Given the description of an element on the screen output the (x, y) to click on. 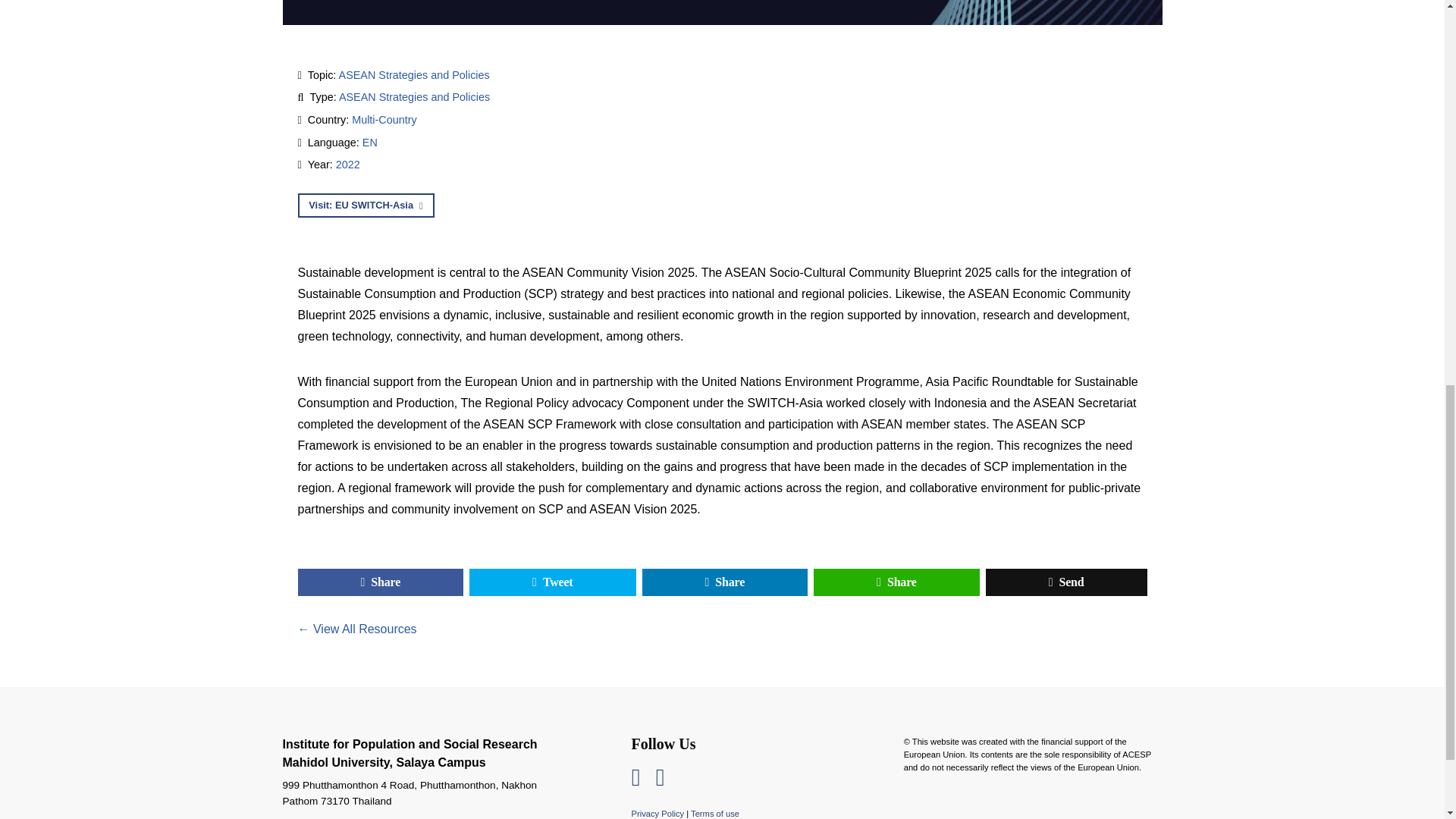
View all posts in Multi-Country (384, 119)
View all posts in EN (369, 142)
View all posts in ASEAN Strategies and Policies (414, 74)
View all posts in ASEAN Strategies and Policies (414, 96)
View all posts in 2022 (347, 164)
